Given the description of an element on the screen output the (x, y) to click on. 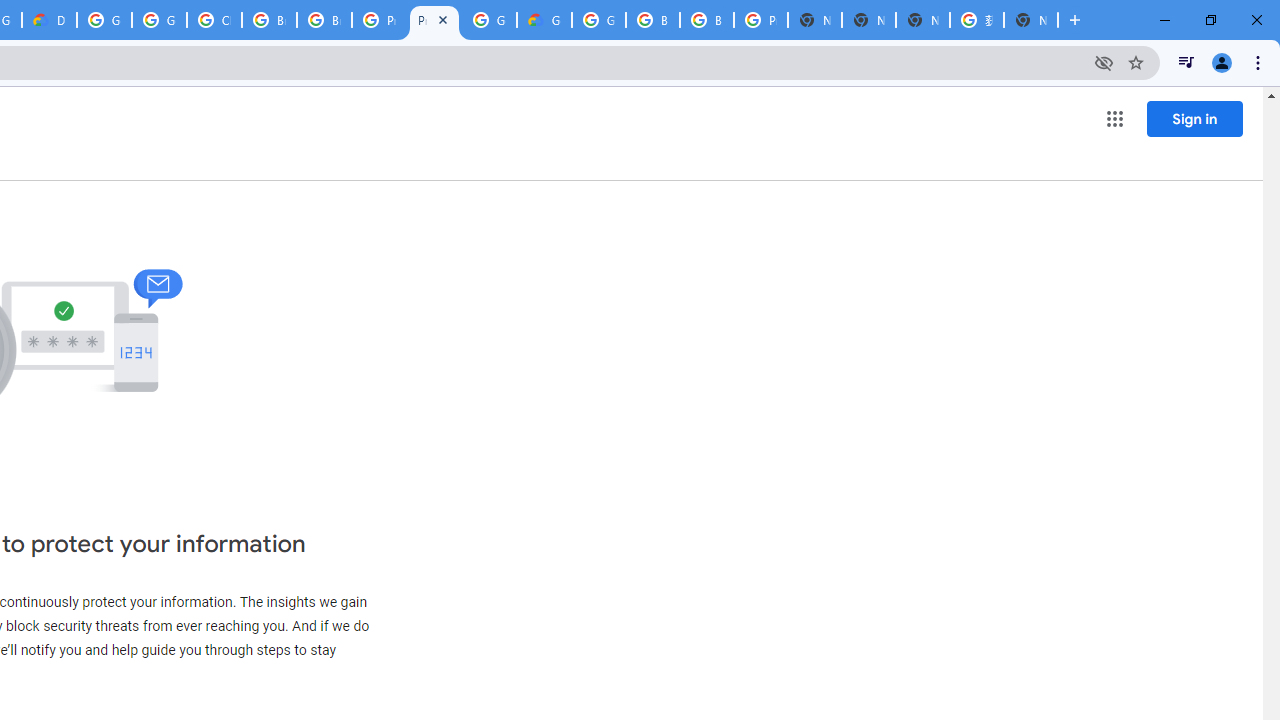
Browse Chrome as a guest - Computer - Google Chrome Help (268, 20)
Google Cloud Platform (489, 20)
Google Cloud Estimate Summary (544, 20)
New Tab (1030, 20)
